Given the description of an element on the screen output the (x, y) to click on. 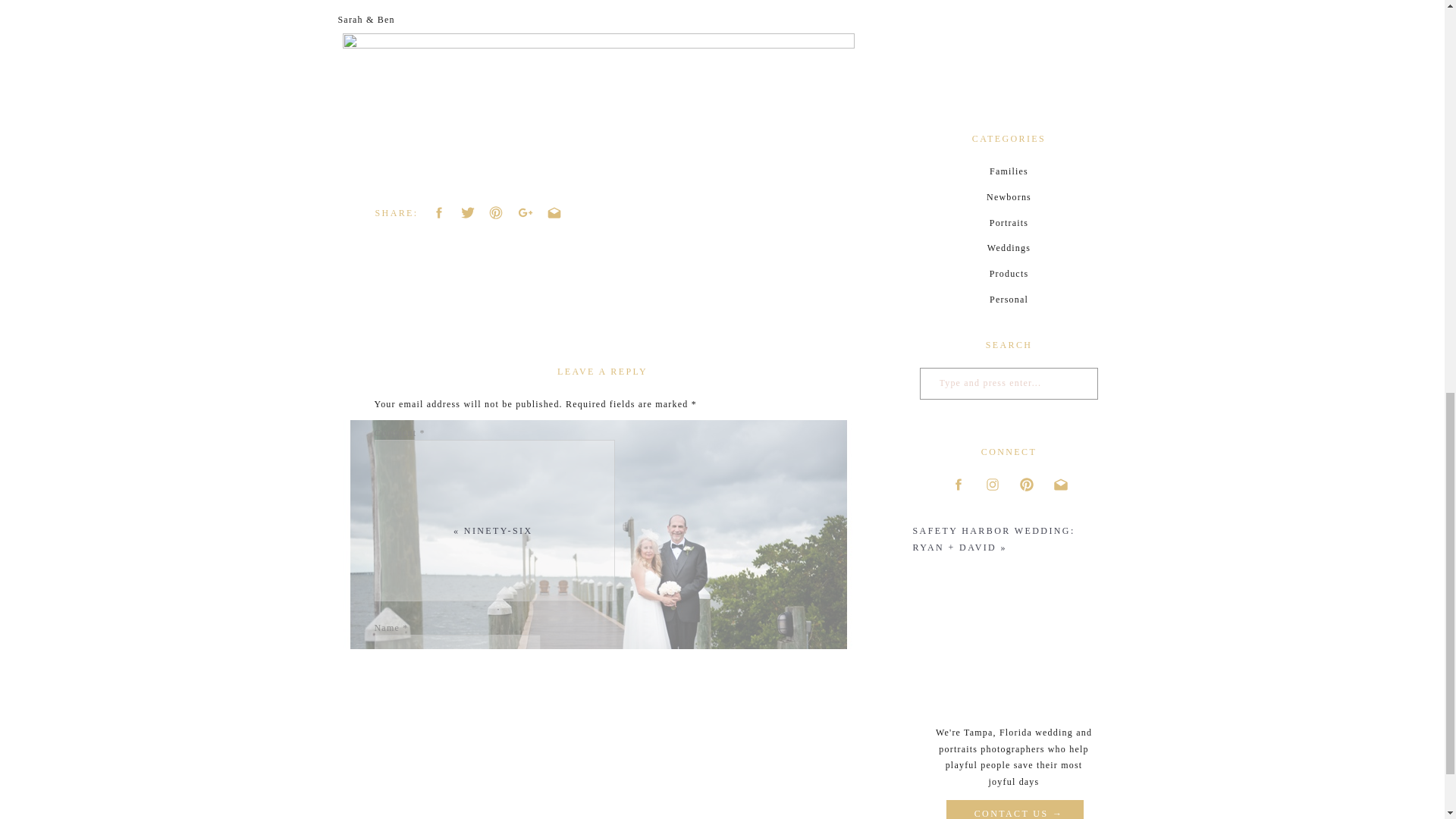
Post Comment (409, 817)
Products (1007, 274)
Personal (1007, 300)
Families (1007, 171)
NINETY-SIX (498, 530)
Newborns (1007, 197)
Post Comment (409, 817)
Weddings (1007, 248)
yes (382, 770)
Portraits (1007, 223)
